Given the description of an element on the screen output the (x, y) to click on. 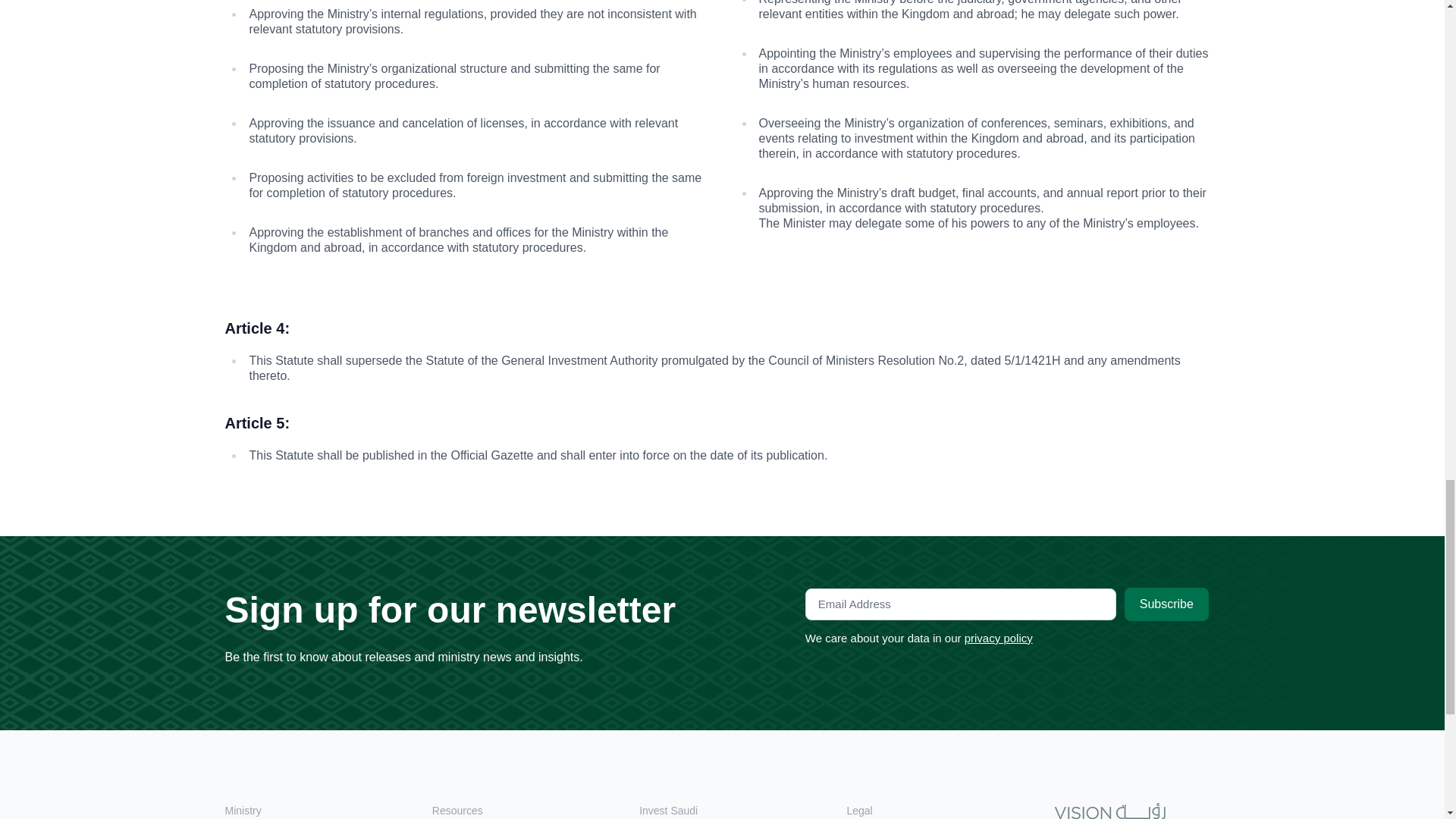
Subscribe (1166, 604)
